Given the description of an element on the screen output the (x, y) to click on. 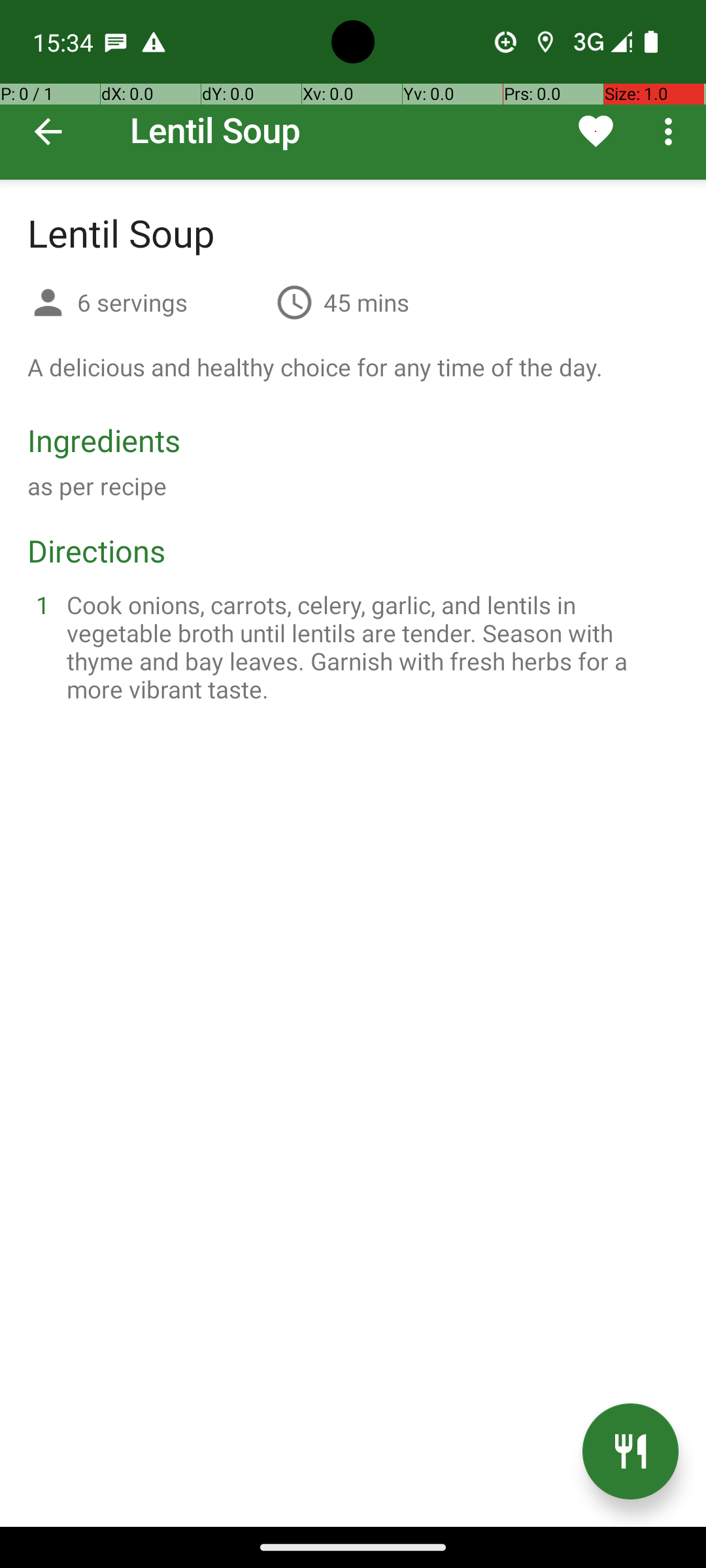
45 mins Element type: android.widget.TextView (366, 301)
as per recipe Element type: android.widget.TextView (96, 485)
Cook onions, carrots, celery, garlic, and lentils in vegetable broth until lentils are tender. Season with thyme and bay leaves. Garnish with fresh herbs for a more vibrant taste. Element type: android.widget.TextView (368, 646)
